Given the description of an element on the screen output the (x, y) to click on. 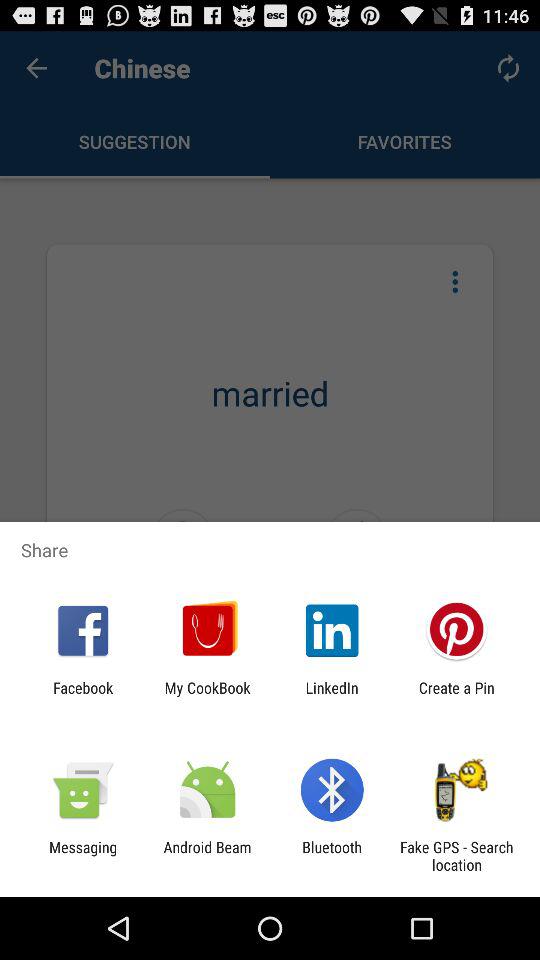
choose item next to the my cookbook icon (331, 696)
